Given the description of an element on the screen output the (x, y) to click on. 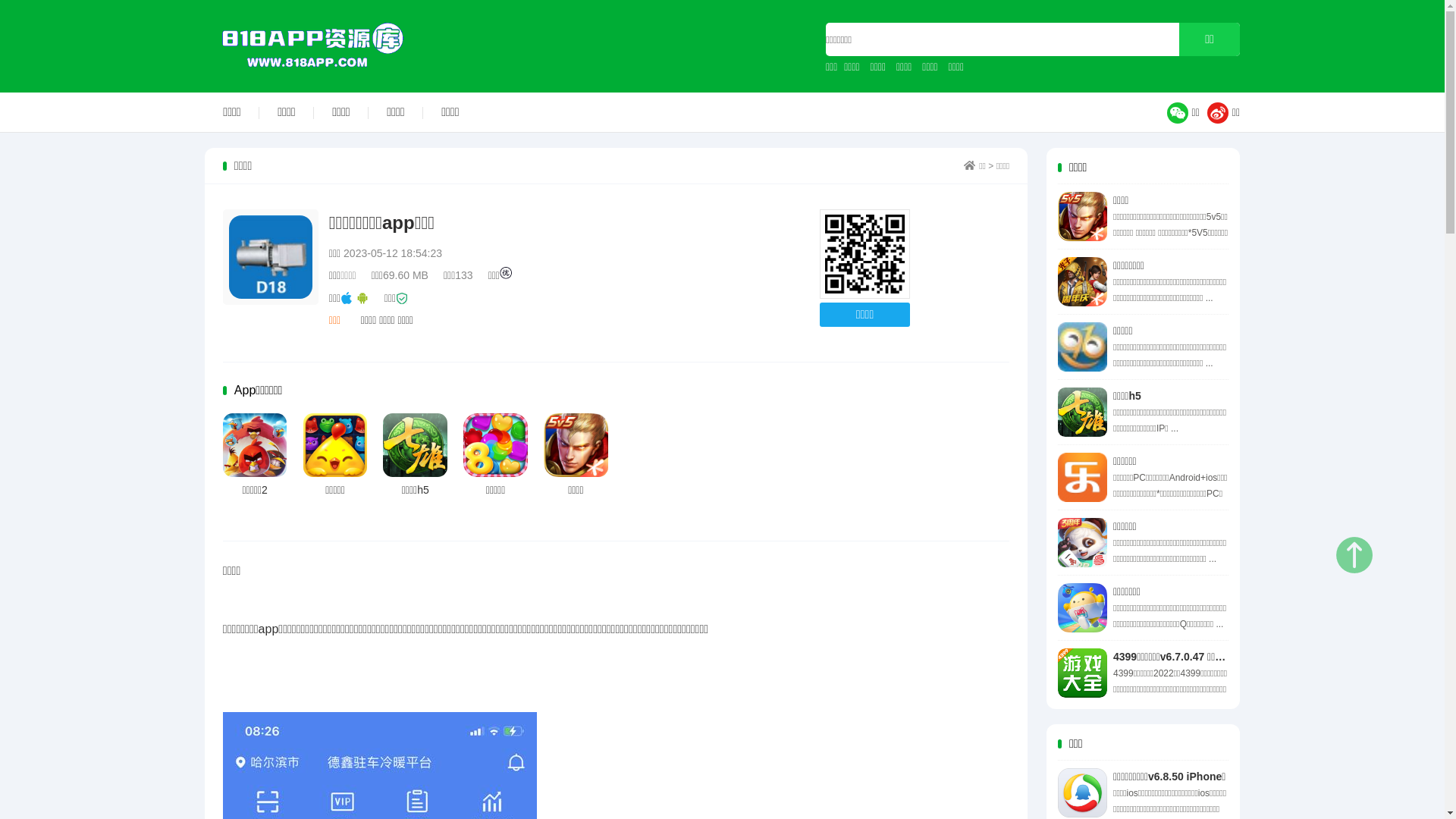
http://www.818app.com Element type: hover (864, 254)
